Given the description of an element on the screen output the (x, y) to click on. 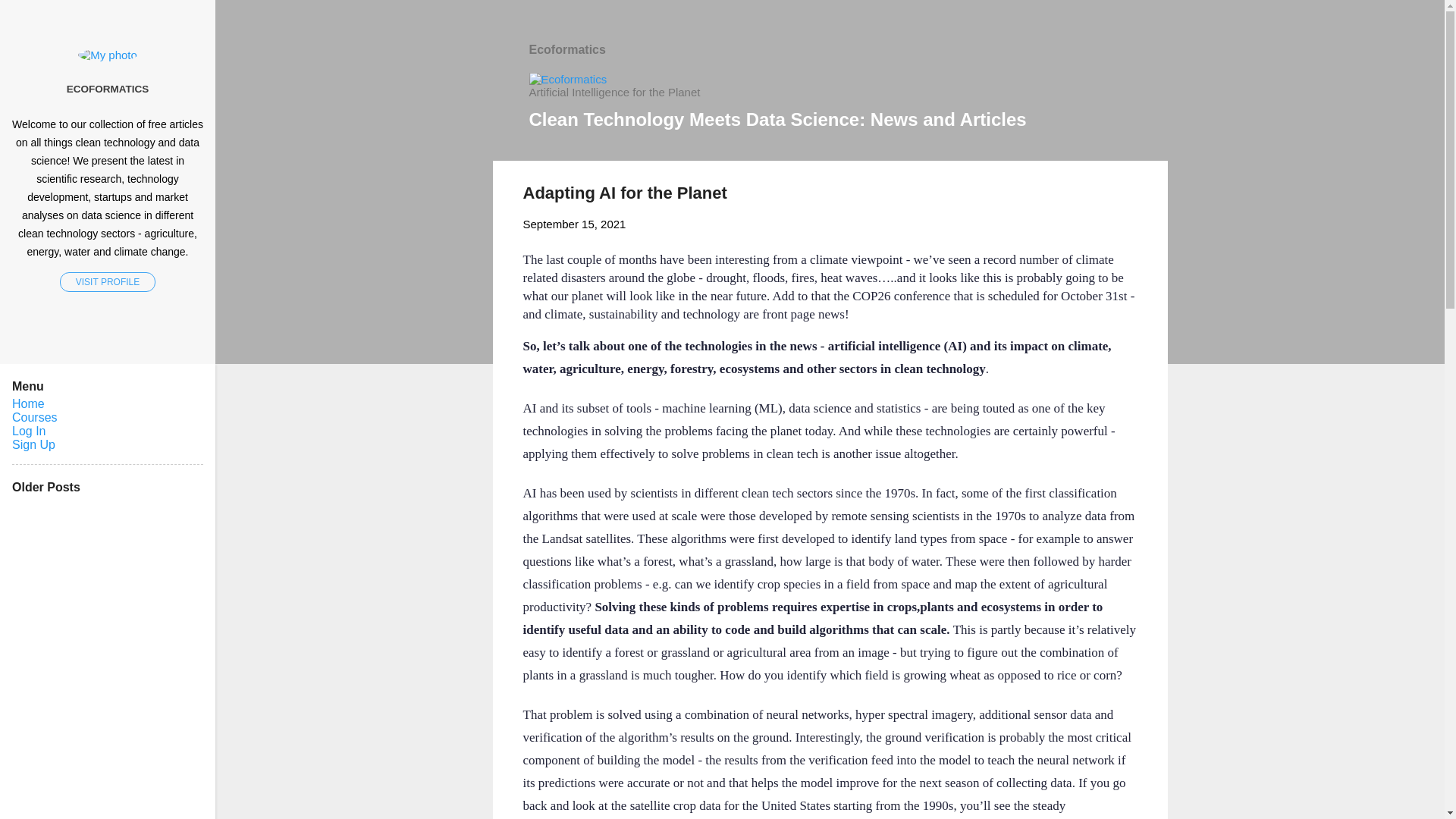
September 15, 2021 (574, 223)
Search (29, 18)
ECOFORMATICS (107, 88)
Home (28, 403)
permanent link (574, 223)
Sign Up (33, 444)
VISIT PROFILE (107, 281)
Log In (28, 431)
Clean Technology Meets Data Science: News and Articles (777, 118)
Courses (34, 417)
